Given the description of an element on the screen output the (x, y) to click on. 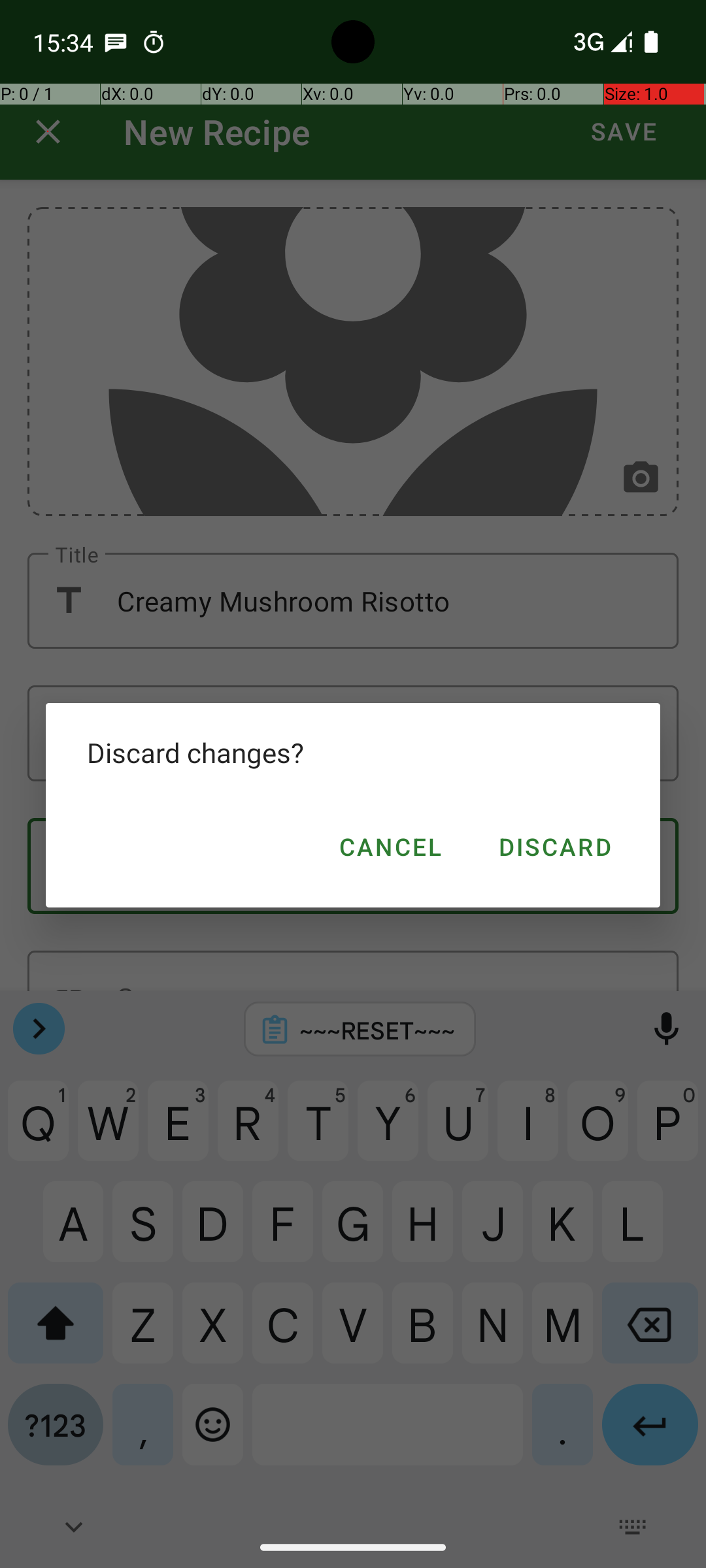
Discard changes? Element type: android.widget.TextView (352, 751)
DISCARD Element type: android.widget.Button (554, 846)
